Given the description of an element on the screen output the (x, y) to click on. 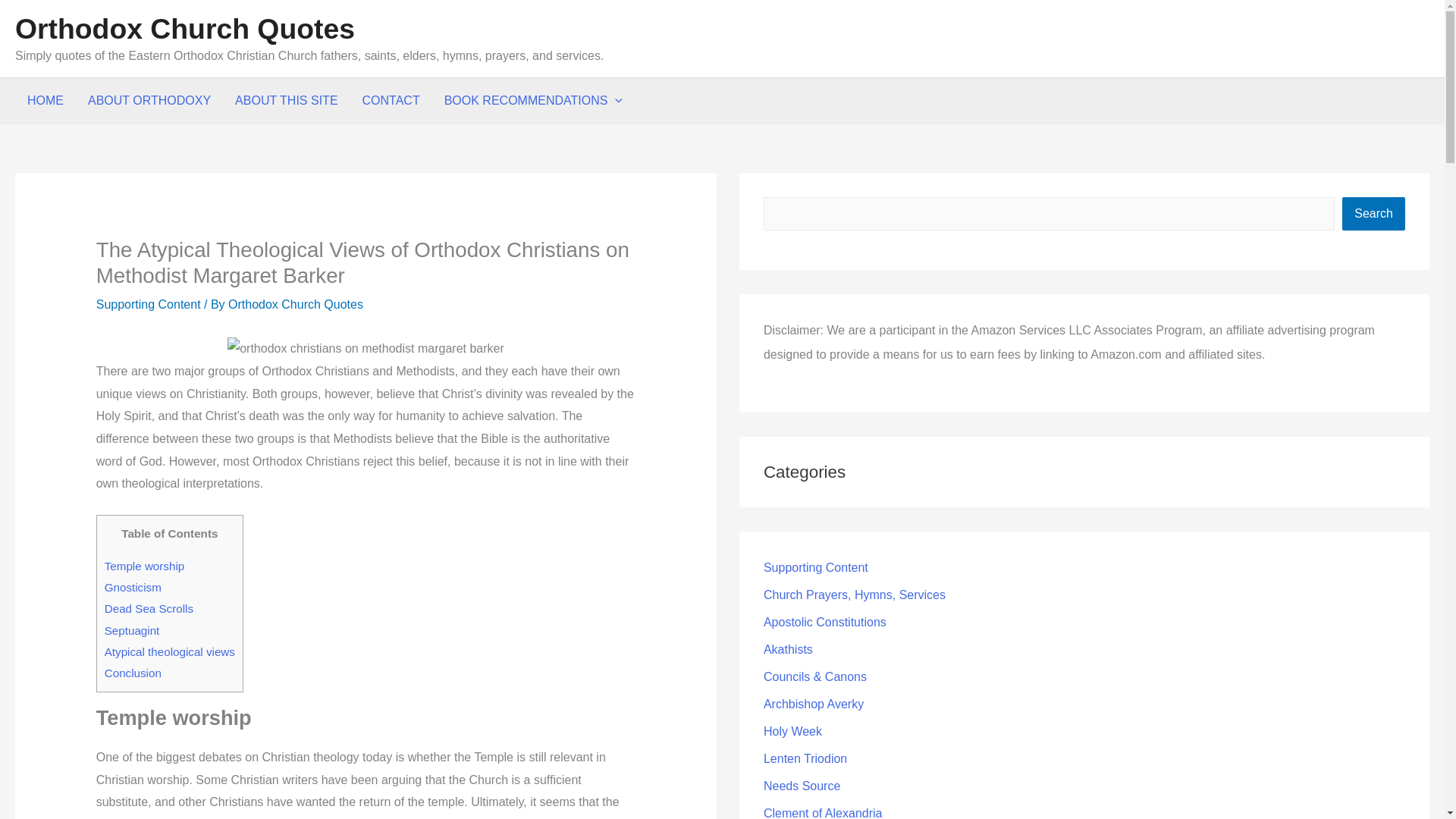
Temple worship (144, 565)
Orthodox Church Quotes (184, 29)
Supporting Content (148, 304)
Dead Sea Scrolls (148, 608)
CONTACT (391, 100)
HOME (44, 100)
Gnosticism (132, 586)
ABOUT THIS SITE (285, 100)
ABOUT ORTHODOXY (148, 100)
Conclusion (132, 672)
BOOK RECOMMENDATIONS (533, 100)
Septuagint (132, 630)
View all posts by Orthodox Church Quotes (295, 304)
Orthodox Church Quotes (295, 304)
Atypical theological views (169, 651)
